Given the description of an element on the screen output the (x, y) to click on. 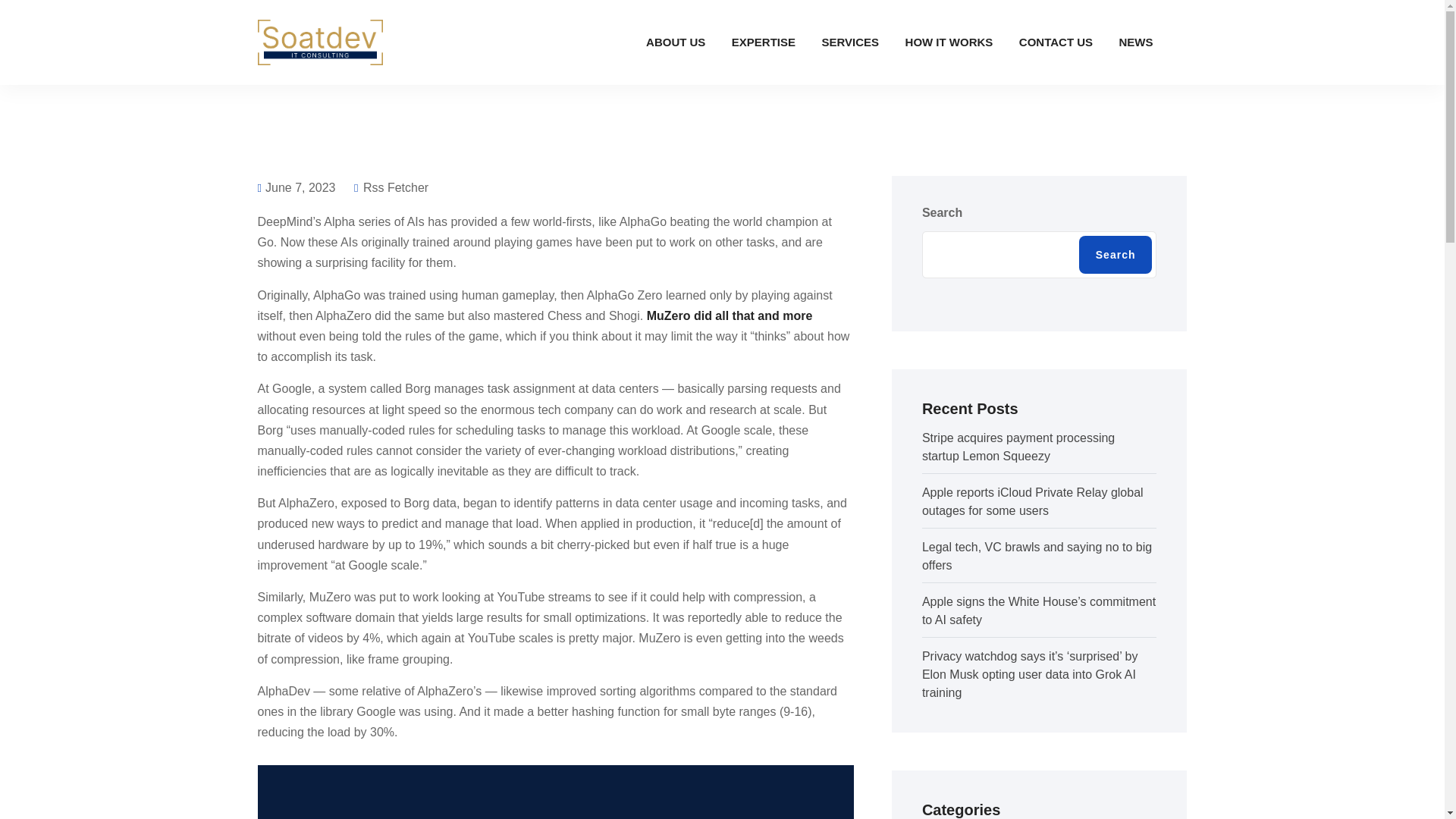
SERVICES (849, 41)
ABOUT US (675, 41)
EXPERTISE (763, 41)
Search (1115, 254)
Services (849, 41)
How it works (948, 41)
Stripe acquires payment processing startup Lemon Squeezy (1018, 446)
Legal tech, VC brawls and saying no to big offers (1036, 555)
About us (675, 41)
HOW IT WORKS (948, 41)
CONTACT US (1055, 41)
Rss Fetcher (390, 187)
Contact Us (1055, 41)
Expertise (763, 41)
